Given the description of an element on the screen output the (x, y) to click on. 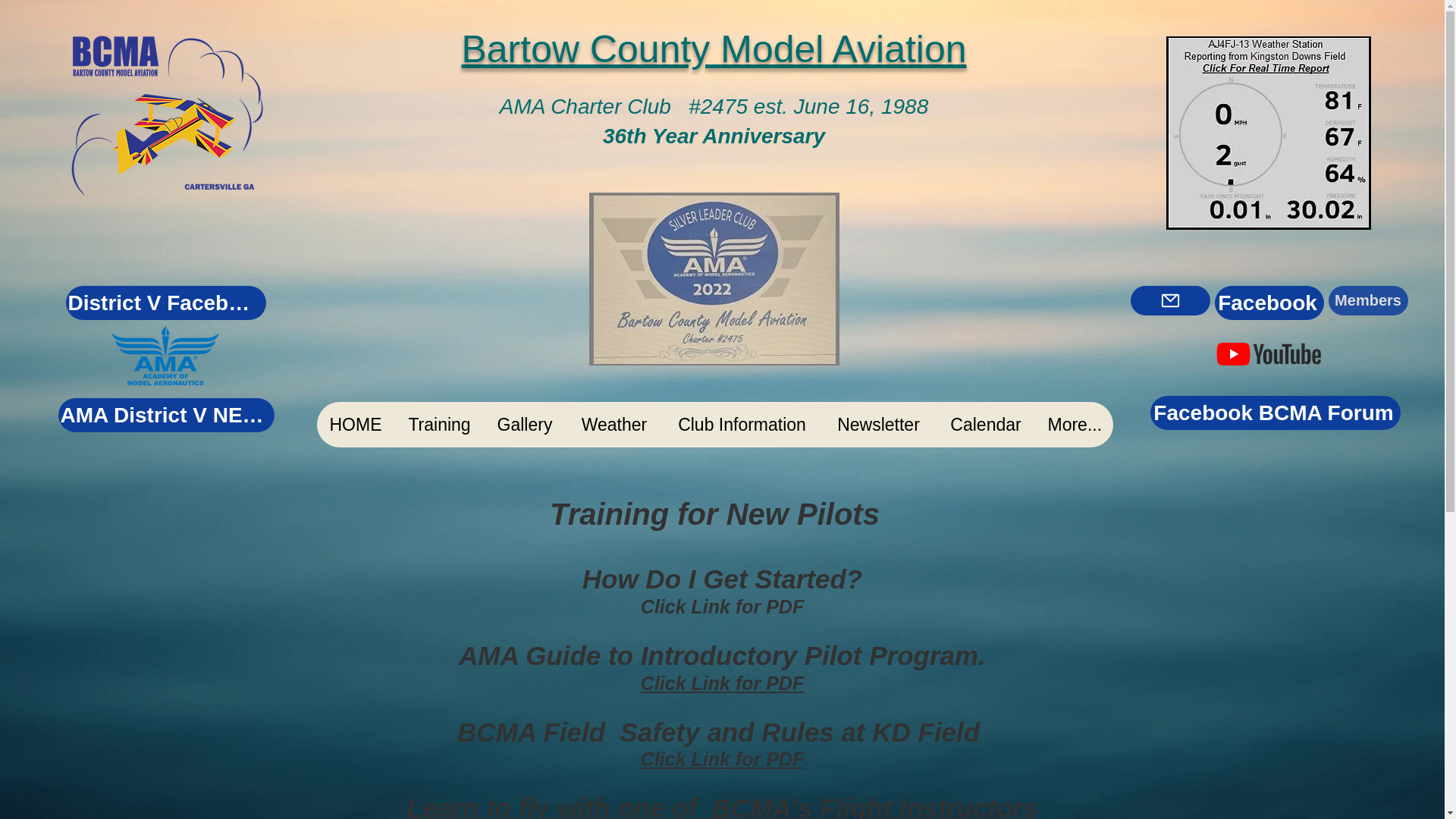
Training (438, 424)
Gallery (524, 424)
AMA District V NEWS (165, 415)
Click Link for PDF (721, 758)
Club Information (741, 424)
Facebook (1268, 302)
Calendar (985, 424)
Learn to fly with one of  BCMA's Flight Instructors (722, 812)
Weather (614, 424)
Newsletter (877, 424)
District V Facebook (164, 302)
Bartow County Model Aviation (713, 48)
36th Year Anniversary (713, 136)
HOME (355, 424)
Members (1367, 300)
